Given the description of an element on the screen output the (x, y) to click on. 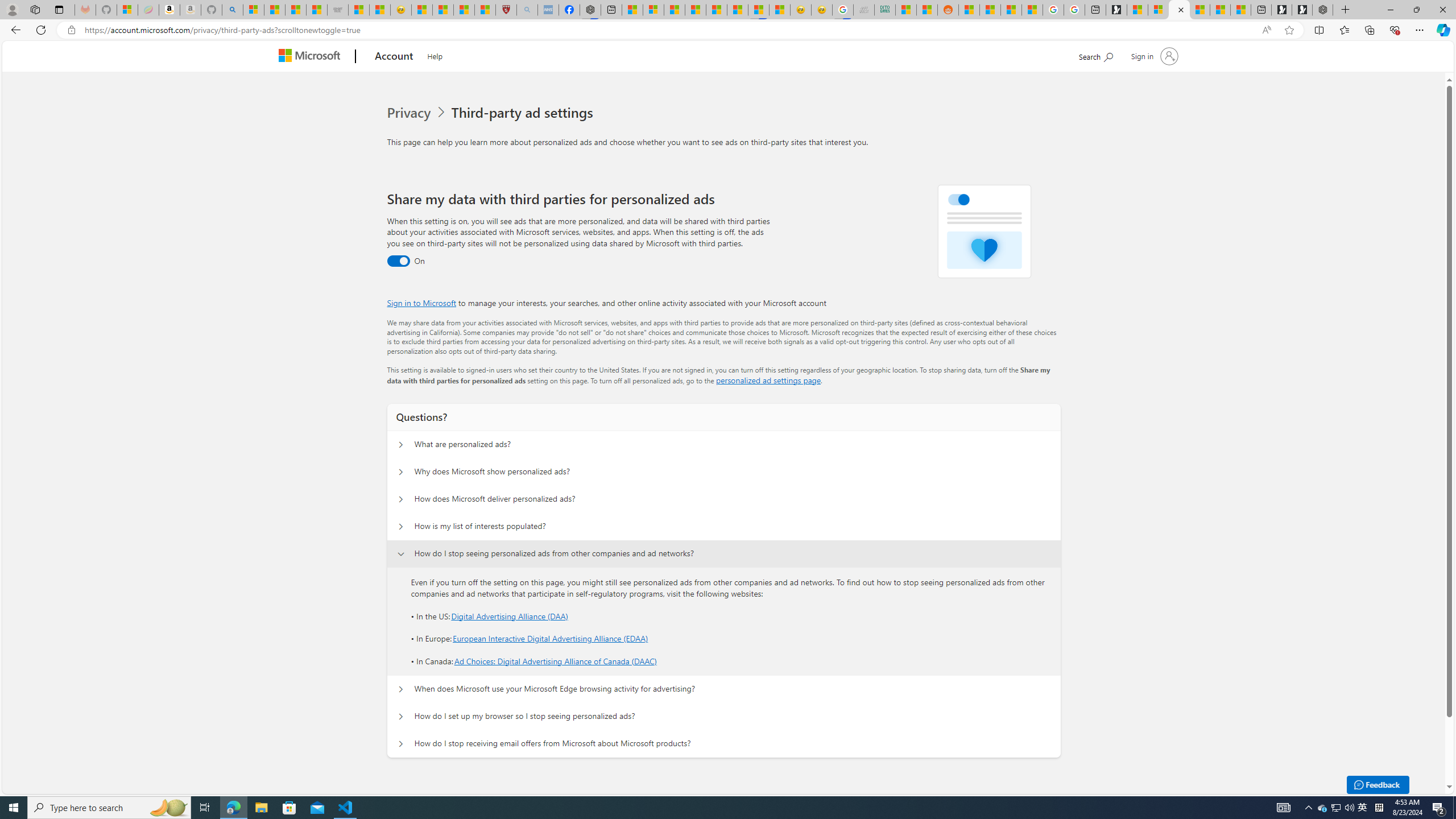
Third-party ad settings (523, 112)
MSN (759, 9)
